Given the description of an element on the screen output the (x, y) to click on. 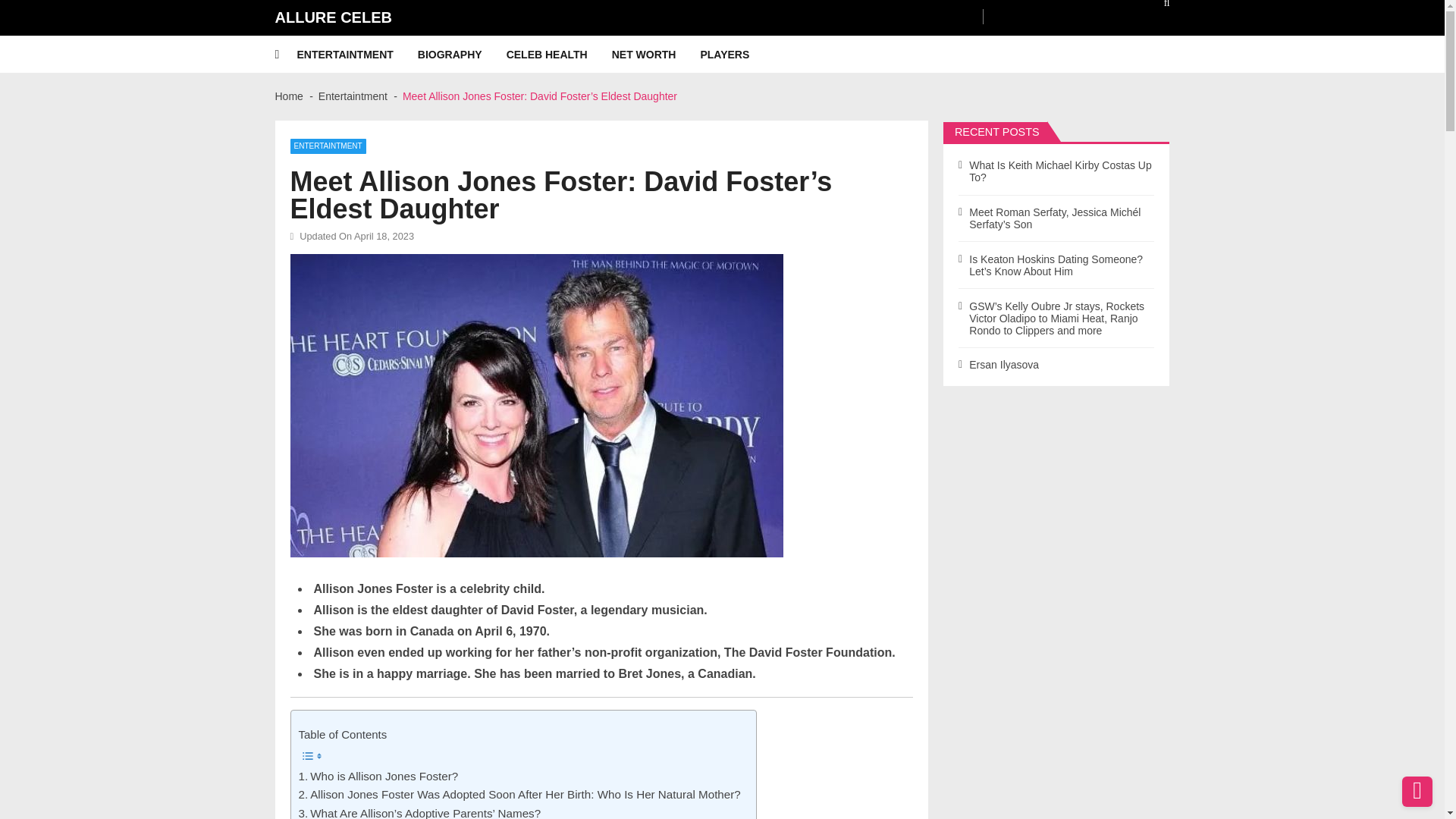
Search (1156, 7)
ALLURE CELEB (333, 17)
Who is Allison Jones Foster? (378, 776)
ENTERTAINTMENT (327, 145)
NET WORTH (655, 54)
Who is Allison Jones Foster? (378, 776)
CELEB HEALTH (558, 54)
PLAYERS (736, 54)
Home (288, 96)
